Given the description of an element on the screen output the (x, y) to click on. 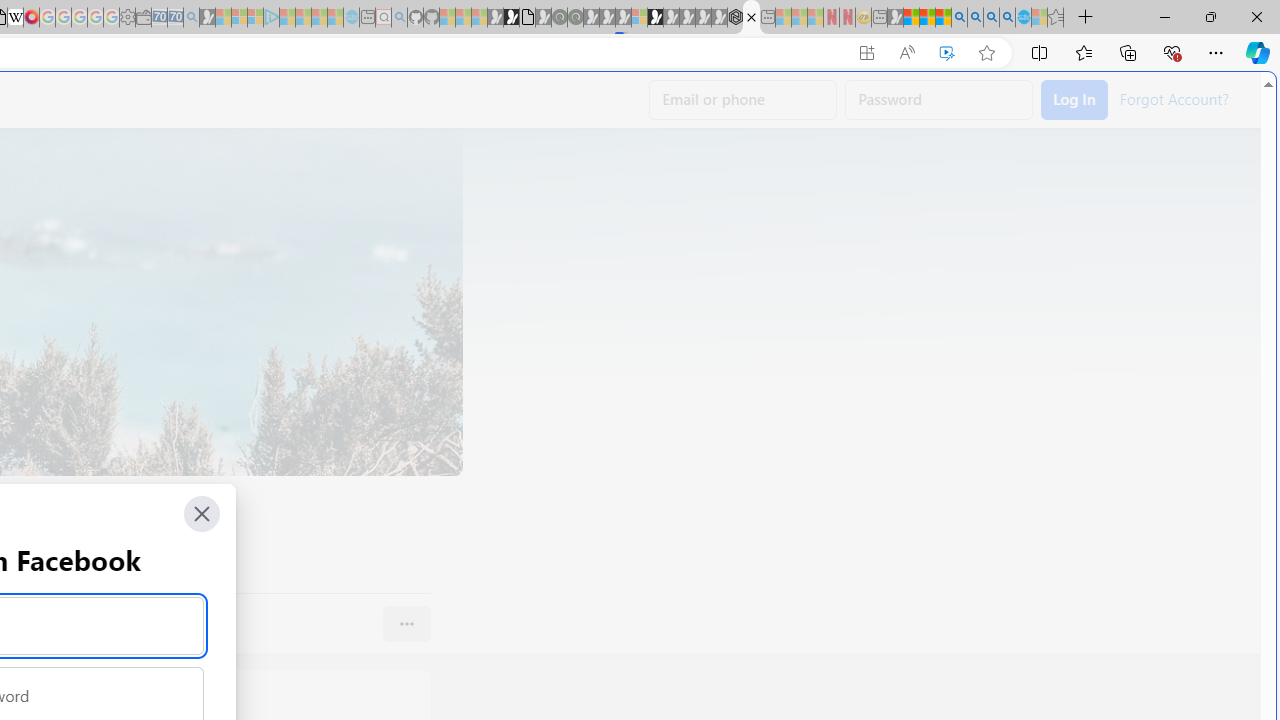
Home | Sky Blue Bikes - Sky Blue Bikes (687, 426)
Bing Real Estate - Home sales and rental listings - Sleeping (191, 17)
Nordace | Facebook (751, 17)
Future Focus Report 2024 - Sleeping (575, 17)
MediaWiki (31, 17)
